Given the description of an element on the screen output the (x, y) to click on. 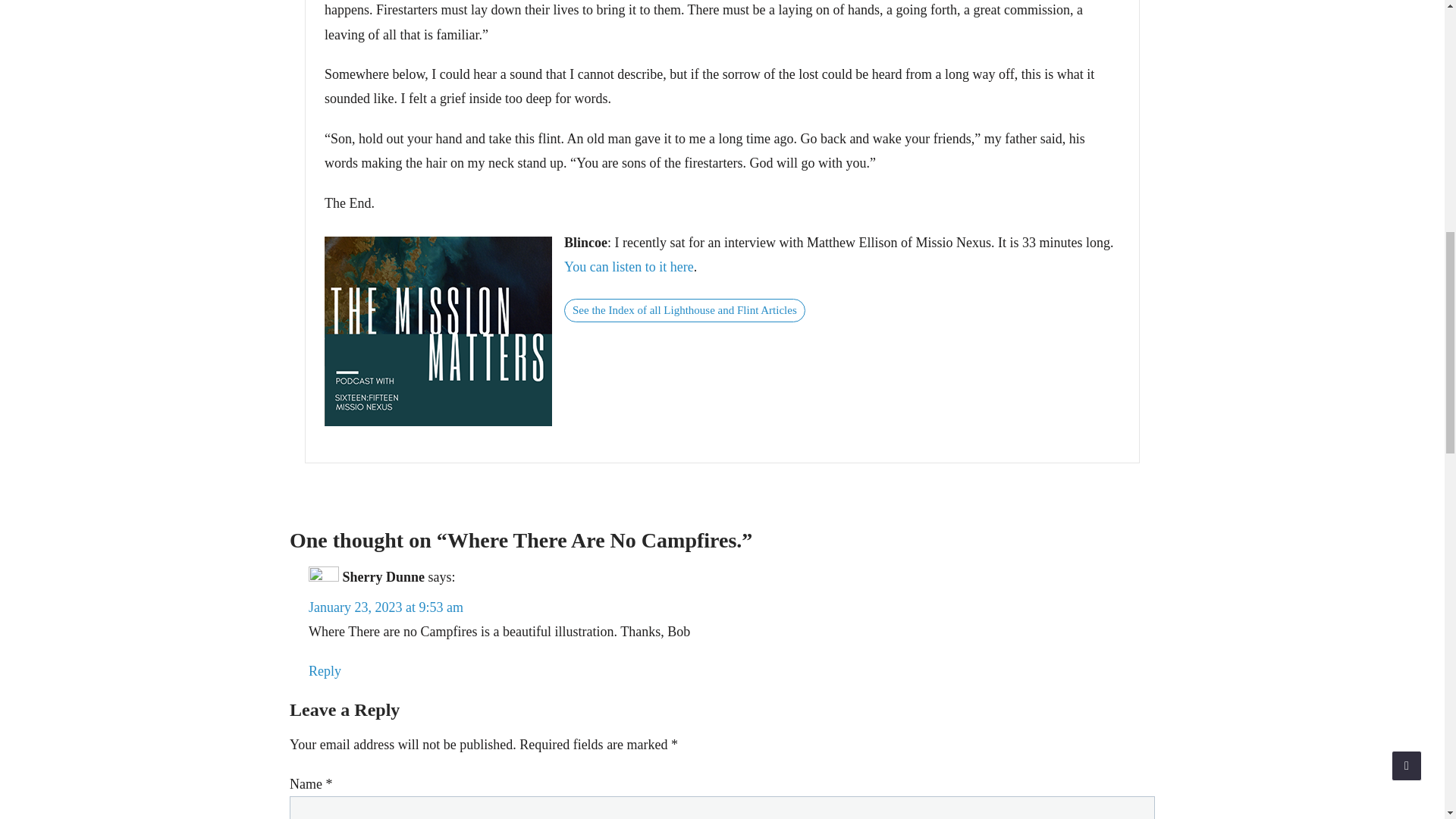
You can listen to it here (629, 266)
Reply (324, 670)
January 23, 2023 at 9:53 am (385, 607)
See the Index of all Lighthouse and Flint Articles (684, 310)
